Given the description of an element on the screen output the (x, y) to click on. 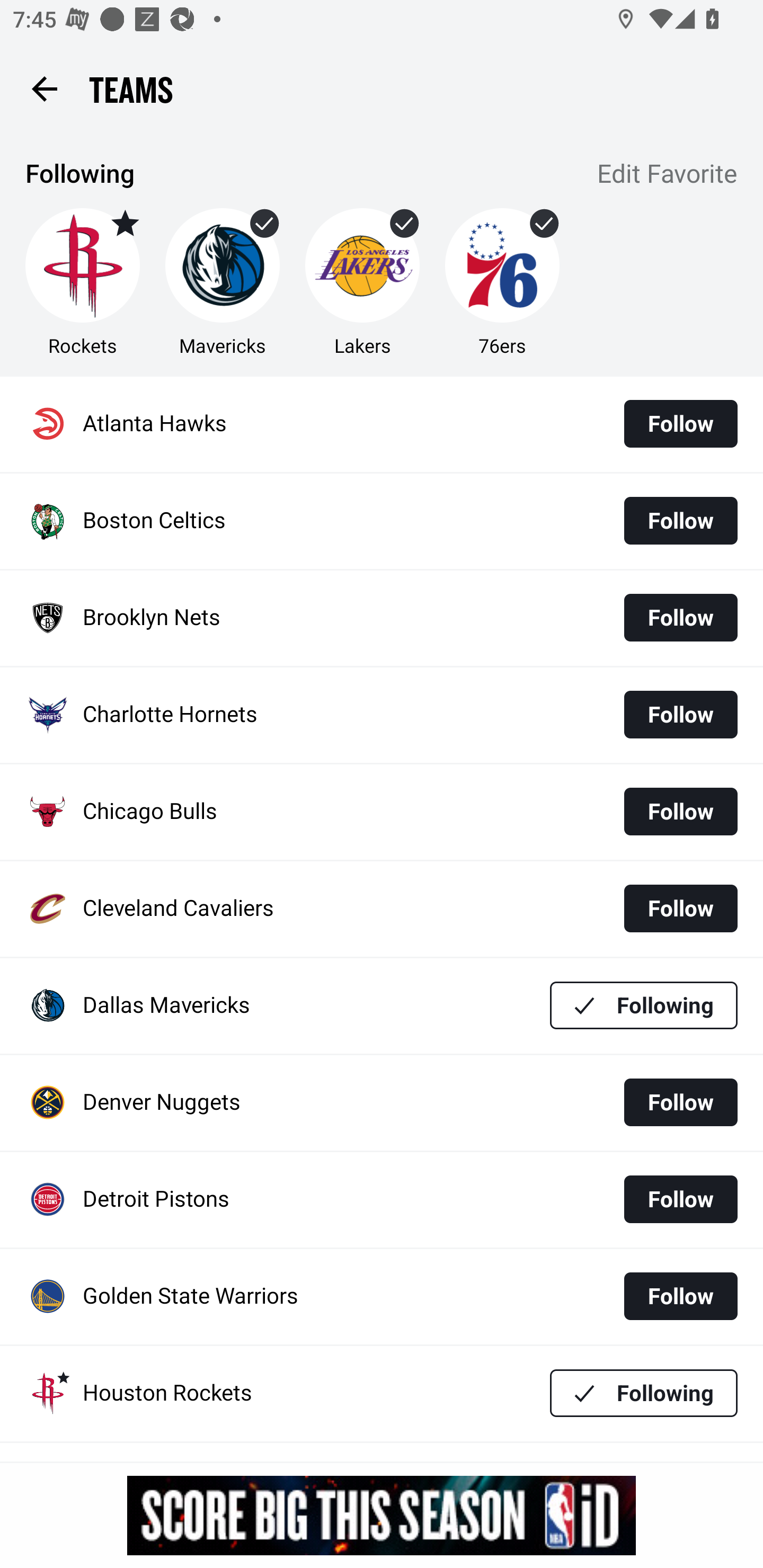
Back button (44, 88)
Edit Favorite (667, 175)
Atlanta Hawks Follow (381, 423)
Follow (680, 423)
Boston Celtics Follow (381, 521)
Follow (680, 520)
Brooklyn Nets Follow (381, 618)
Follow (680, 617)
Charlotte Hornets Follow (381, 714)
Follow (680, 713)
Chicago Bulls Follow (381, 812)
Follow (680, 811)
Cleveland Cavaliers Follow (381, 908)
Follow (680, 908)
Dallas Mavericks Following (381, 1005)
Following (643, 1005)
Denver Nuggets Follow (381, 1102)
Follow (680, 1101)
Detroit Pistons Follow (381, 1200)
Follow (680, 1199)
Golden State Warriors Follow (381, 1296)
Follow (680, 1295)
Houston Rockets Following (381, 1392)
Following (643, 1392)
g5nqqygr7owph (381, 1515)
